Given the description of an element on the screen output the (x, y) to click on. 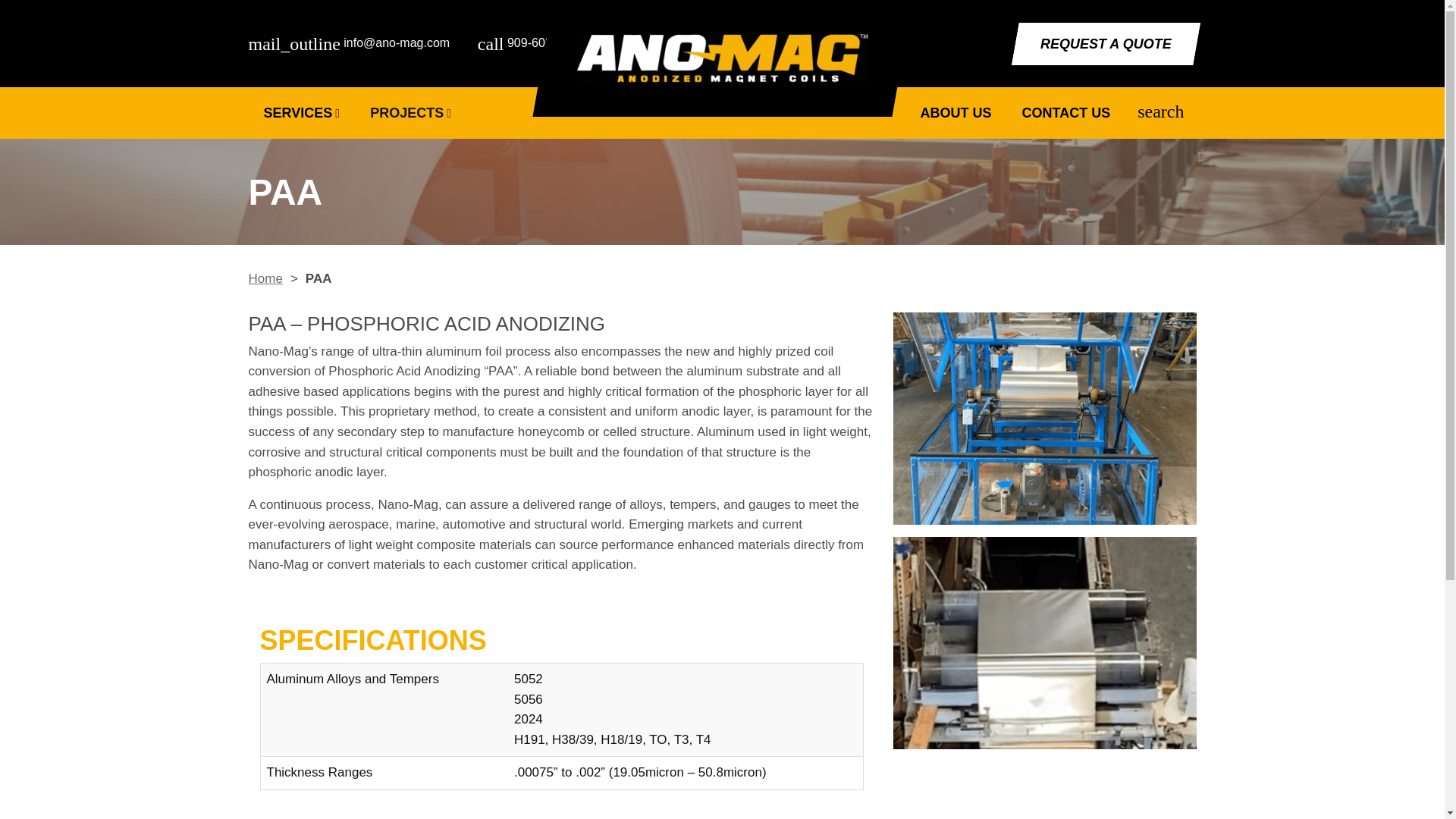
Home (265, 278)
Projects (410, 112)
search (1160, 113)
PROJECTS (410, 112)
CONTACT US (1066, 112)
Email Us (355, 42)
SERVICES (301, 112)
call 909-605-1577 (536, 42)
REQUEST A QUOTE (1101, 43)
Services (301, 112)
